Given the description of an element on the screen output the (x, y) to click on. 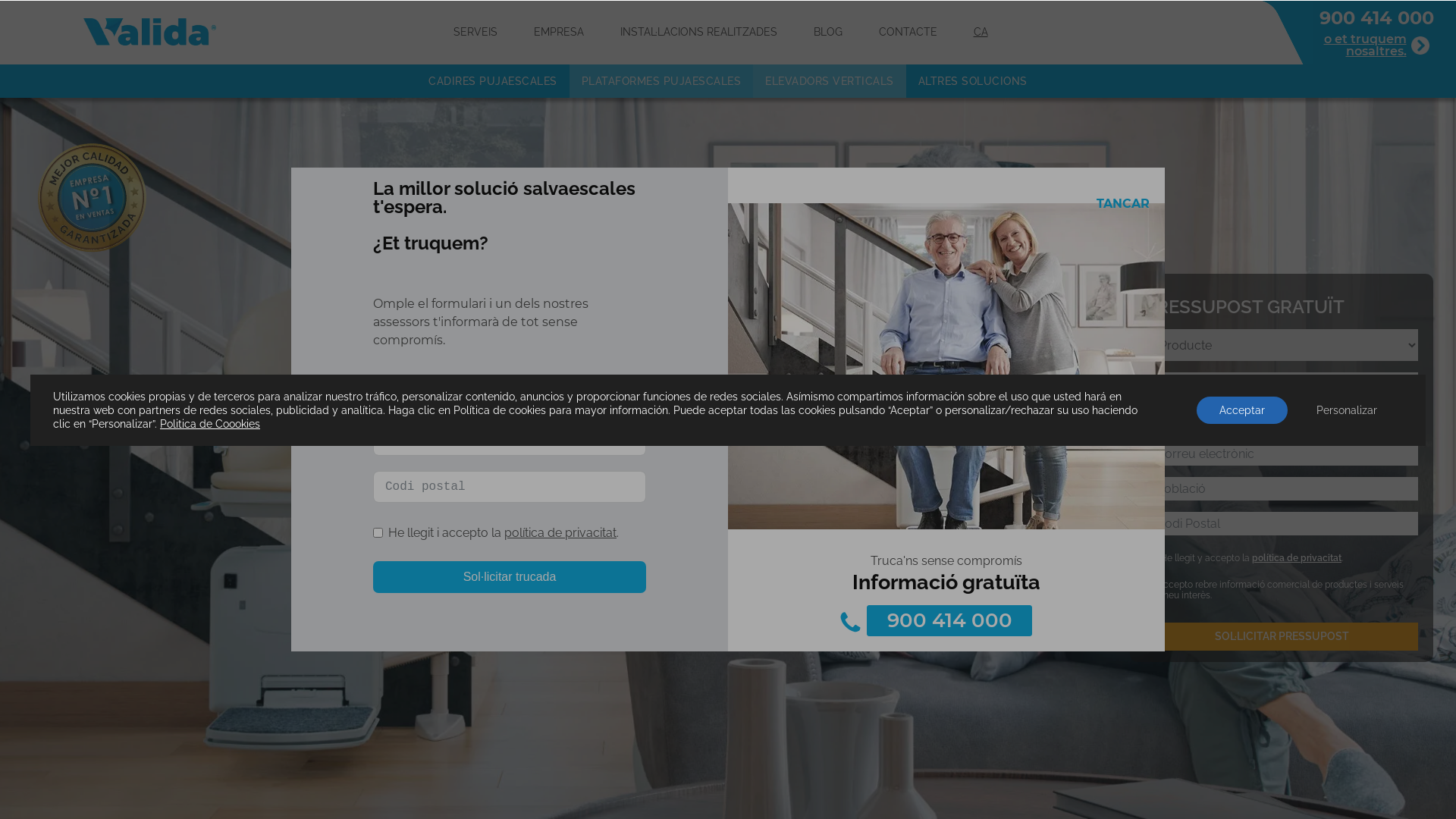
CONTACTE Element type: text (906, 32)
ALTRES SOLUCIONS Element type: text (972, 81)
o et truquem
nosaltres. Element type: text (1376, 45)
BLOG Element type: text (826, 32)
Personalizar Element type: text (1346, 409)
Acceptar Element type: text (1241, 409)
CA Element type: text (980, 32)
Politica de Coookies Element type: text (210, 423)
EMPRESA Element type: text (558, 32)
900 414 000 Element type: text (949, 620)
900 414 000 Element type: text (1375, 18)
ELEVADORS VERTICALS Element type: text (829, 81)
CADIRES PUJAESCALES Element type: text (492, 81)
SERVEIS Element type: text (475, 32)
PLATAFORMES PUJAESCALES Element type: text (661, 81)
